Given the description of an element on the screen output the (x, y) to click on. 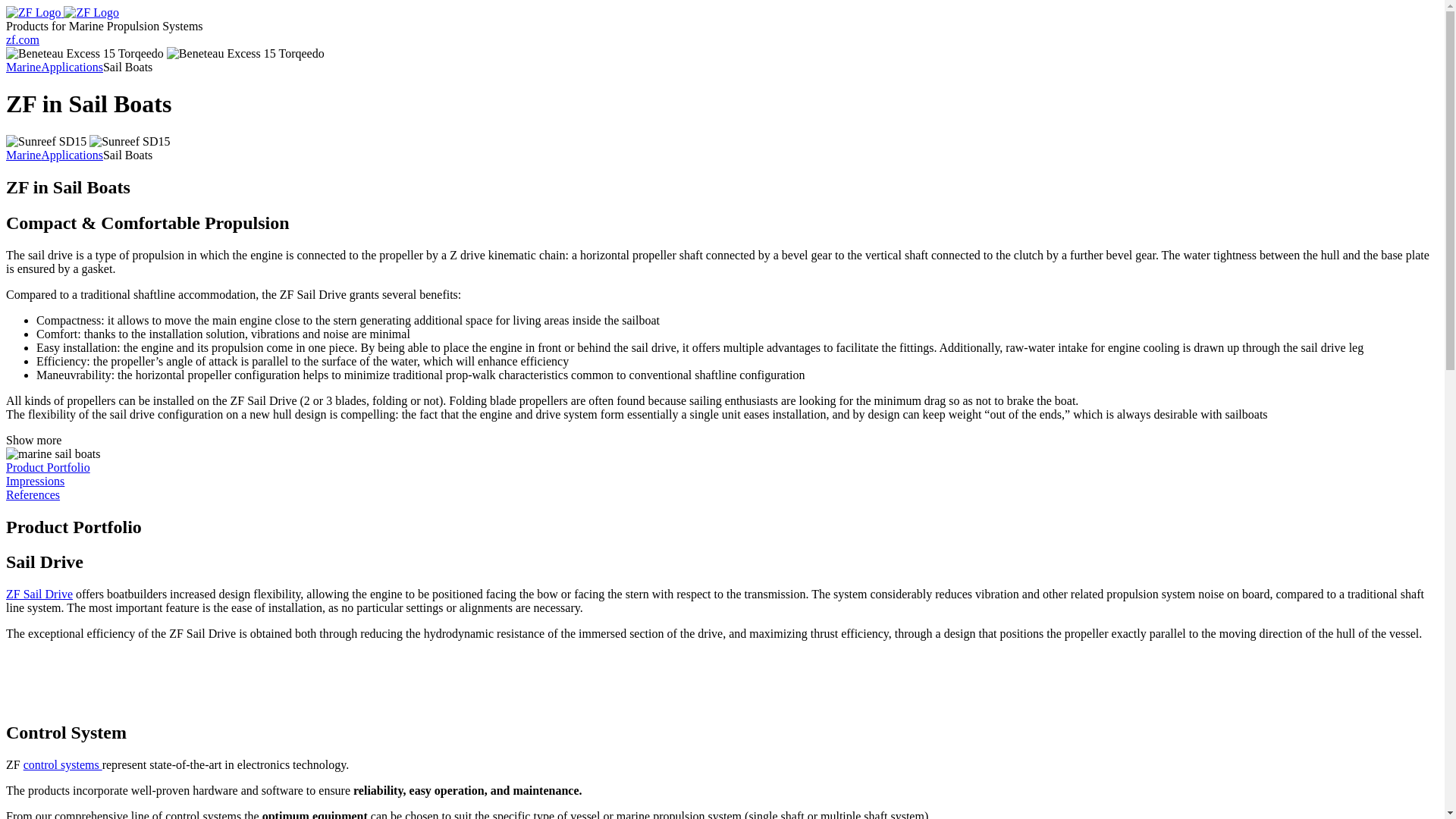
Beneteau Excess 15 Torqeedo (84, 53)
Sunreef SD15 (129, 141)
Marine (22, 66)
Applications (71, 154)
zf.com (22, 39)
Beneteau Excess 15 Torqeedo (245, 53)
control systems (62, 764)
Marine (22, 154)
Sunreef SD15 (45, 141)
Applications (71, 66)
Impressions (34, 481)
ZF Sail Drive (38, 594)
References (32, 494)
Product Portfolio (47, 467)
